Given the description of an element on the screen output the (x, y) to click on. 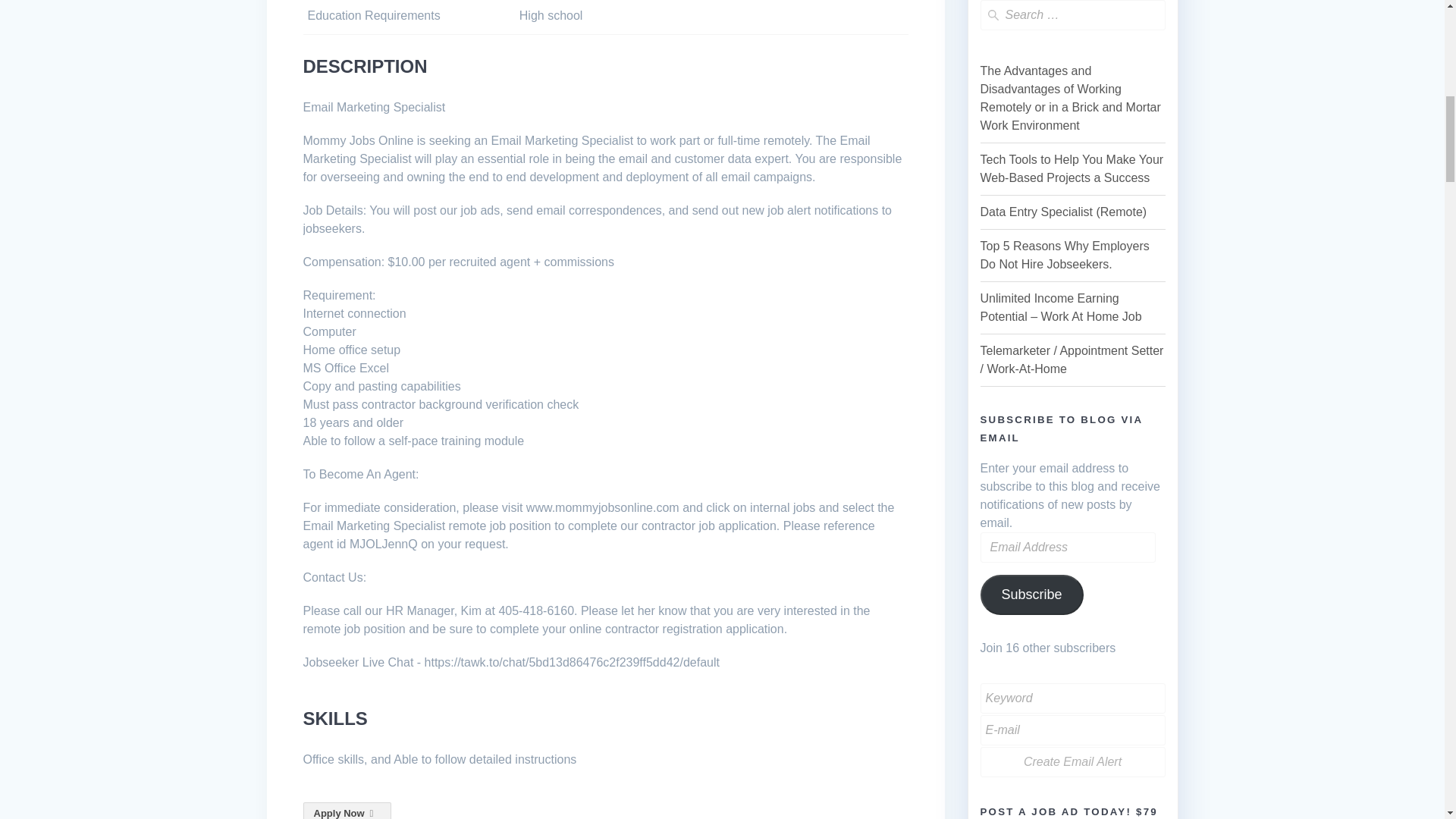
Apply Now  (346, 810)
Create Email Alert (1071, 761)
Top 5 Reasons Why Employers Do Not Hire Jobseekers. (1063, 255)
